Given the description of an element on the screen output the (x, y) to click on. 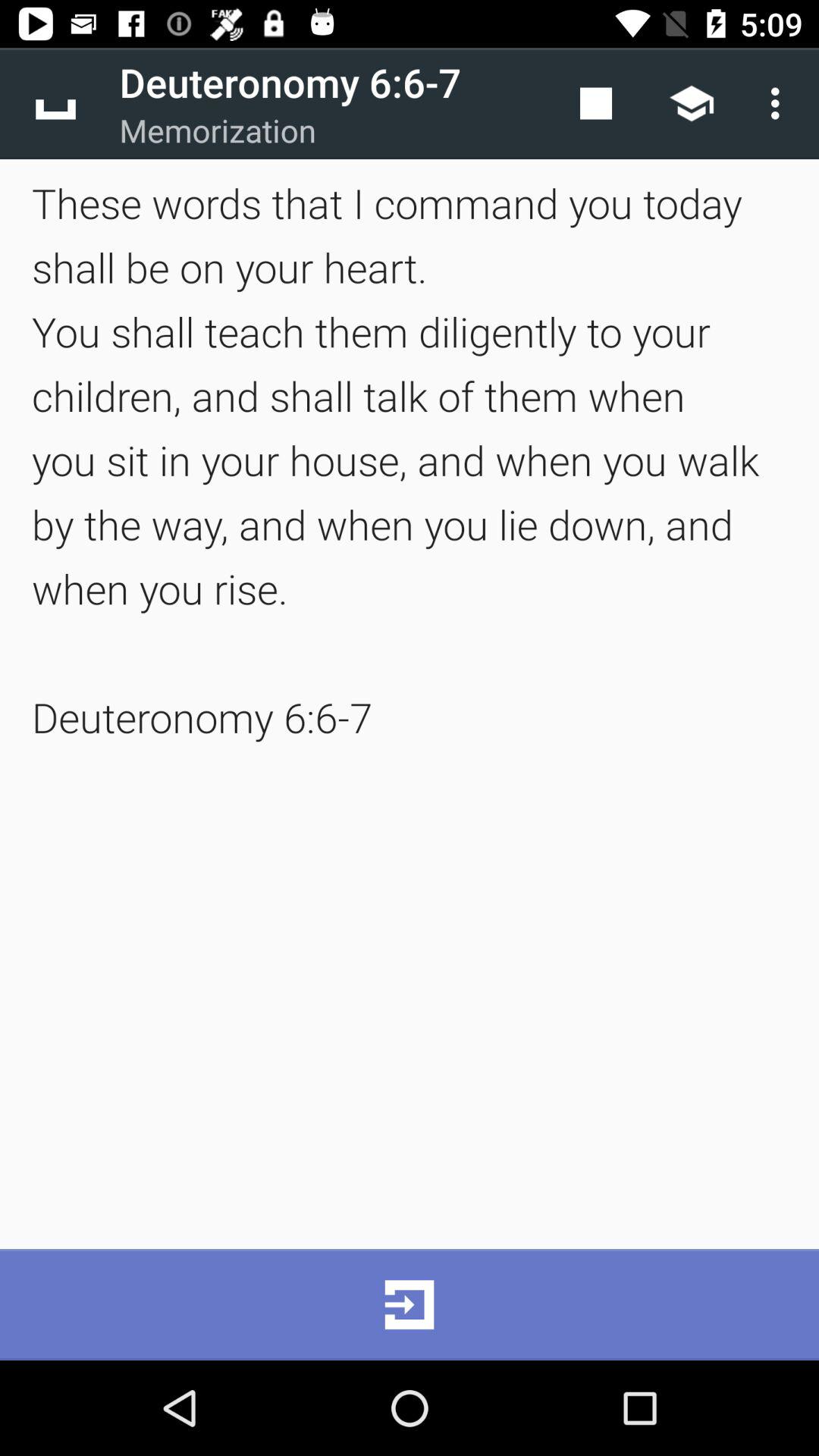
flip to these words that (409, 459)
